Given the description of an element on the screen output the (x, y) to click on. 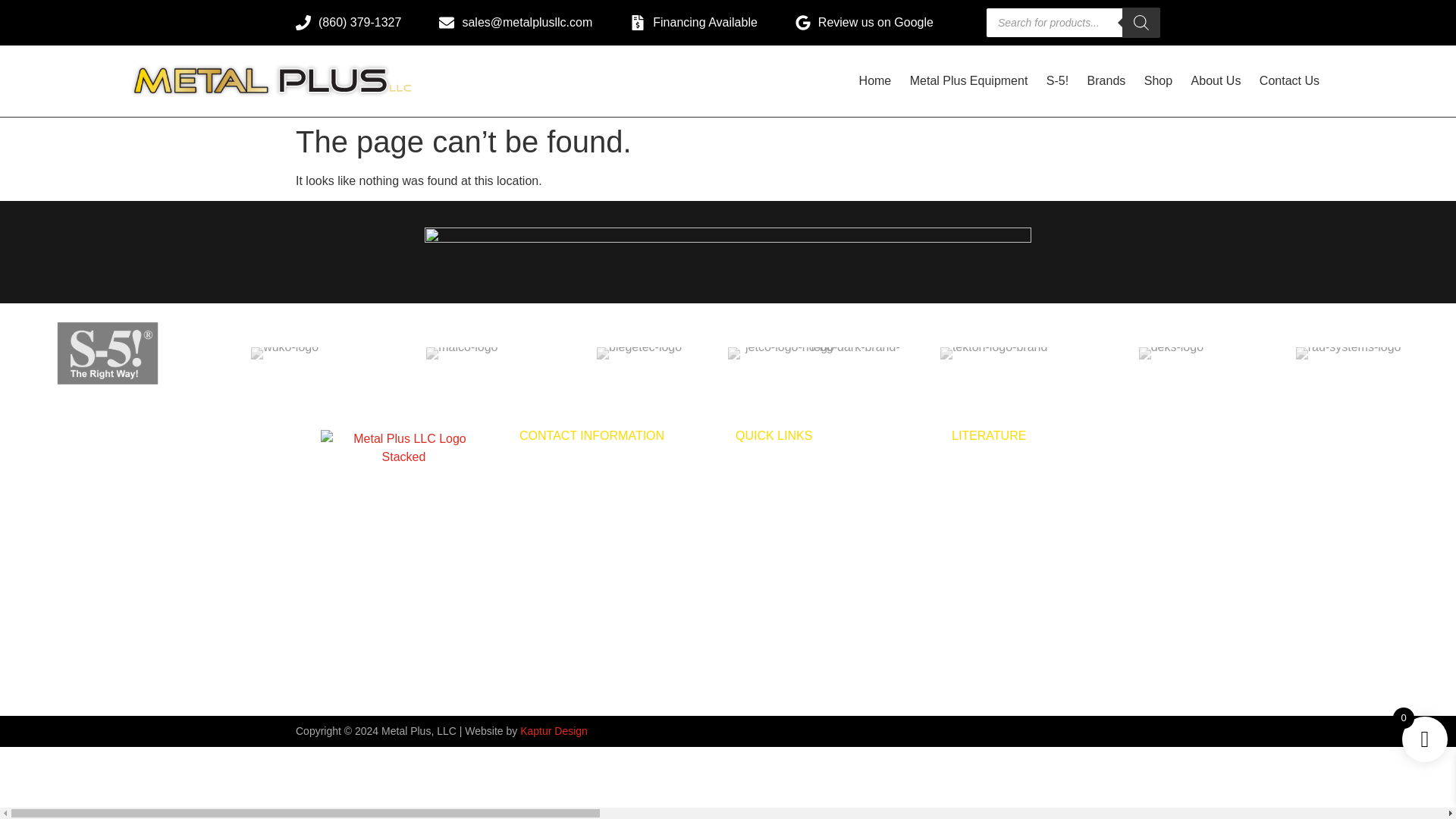
Home (875, 80)
Shop (1158, 80)
Metal Plus Equipment (968, 80)
Review us on Google (863, 22)
Home (875, 80)
Brands (1106, 80)
Financing Available (693, 22)
Metal Plus Equipment (968, 80)
